Given the description of an element on the screen output the (x, y) to click on. 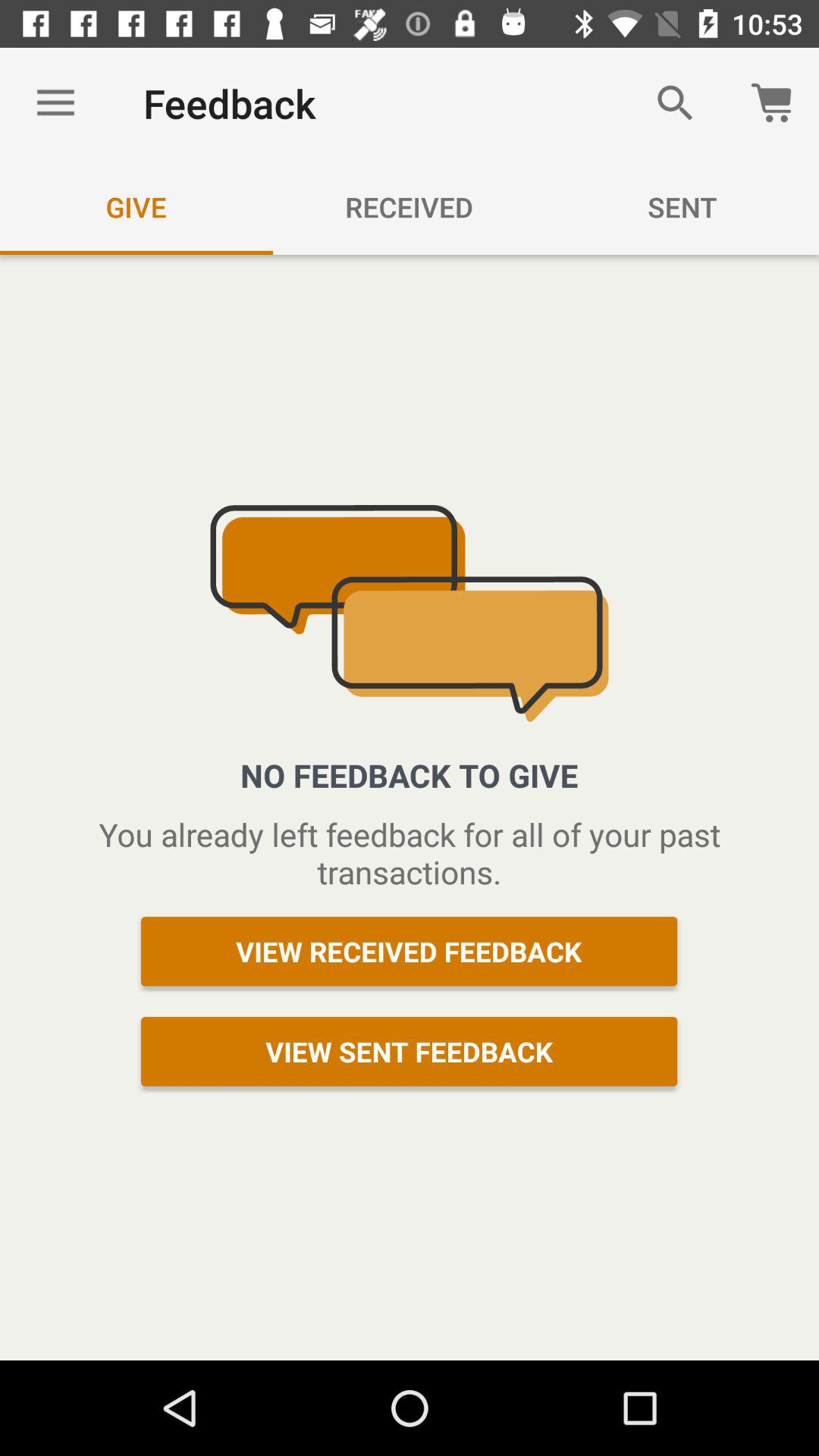
select icon above give (55, 103)
